Given the description of an element on the screen output the (x, y) to click on. 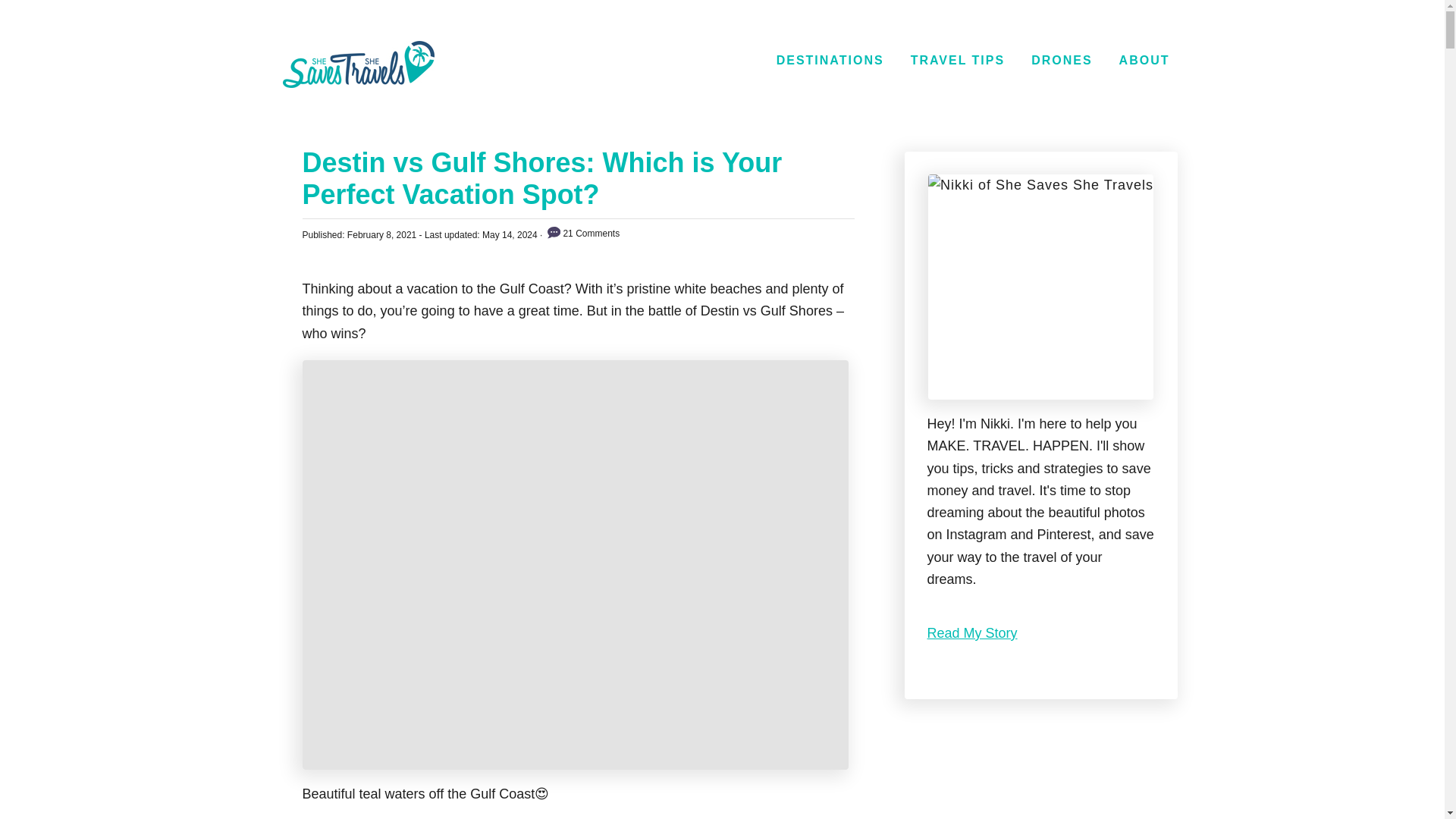
DRONES (1061, 60)
ABOUT (1144, 60)
She Saves She Travels (357, 64)
TRAVEL TIPS (957, 60)
DESTINATIONS (829, 60)
